Given the description of an element on the screen output the (x, y) to click on. 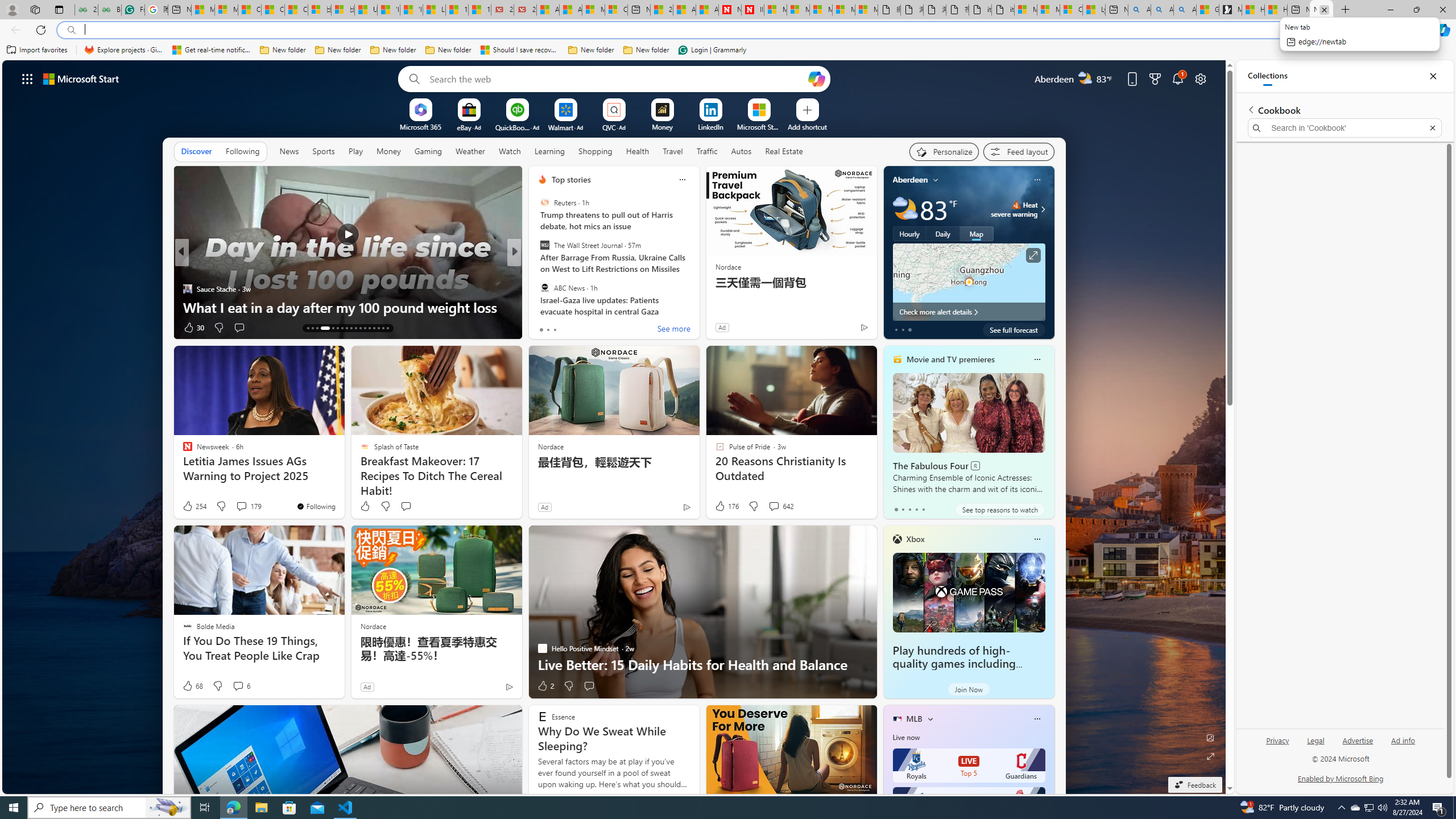
New folder (646, 49)
Sauce Stache (187, 288)
AutomationID: tab-29 (387, 328)
What I eat in a day after my 100 pound weight loss (347, 307)
loveMONEY (537, 270)
View comments 25 Comment (592, 327)
Shopping (594, 151)
PC World (537, 270)
Search in 'Cookbook' (1345, 127)
Cloud Computing Services | Microsoft Azure (615, 9)
Google is a monopoly. The fix isn't obvious (697, 307)
